Given the description of an element on the screen output the (x, y) to click on. 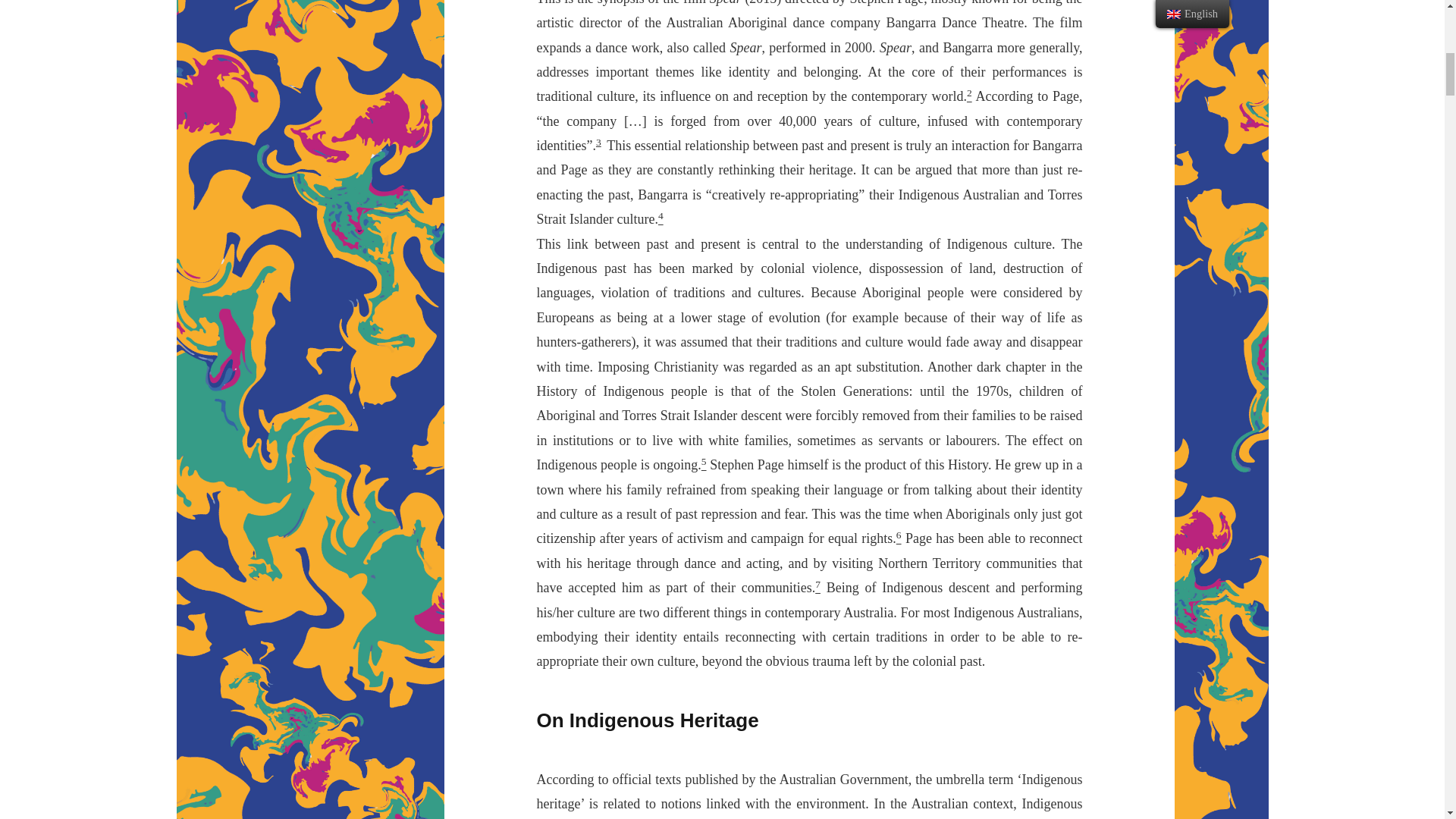
2 (969, 96)
4 (660, 218)
3 (598, 142)
7 (818, 587)
5 (703, 464)
6 (898, 538)
